Given the description of an element on the screen output the (x, y) to click on. 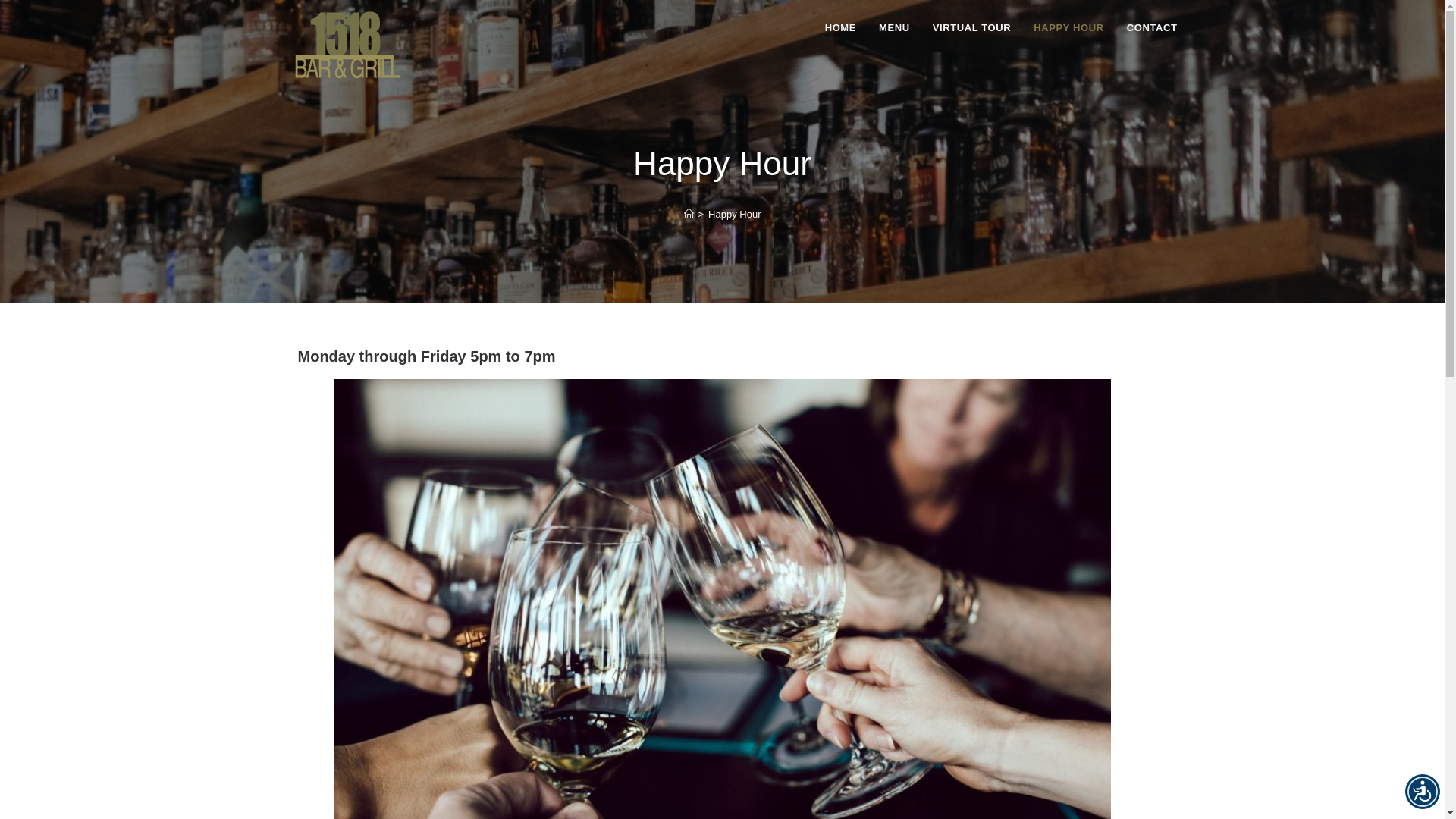
Happy Hour Element type: text (734, 213)
HOME Element type: text (840, 28)
VIRTUAL TOUR Element type: text (971, 28)
CONTACT Element type: text (1152, 28)
MENU Element type: text (894, 28)
HAPPY HOUR Element type: text (1068, 28)
